Given the description of an element on the screen output the (x, y) to click on. 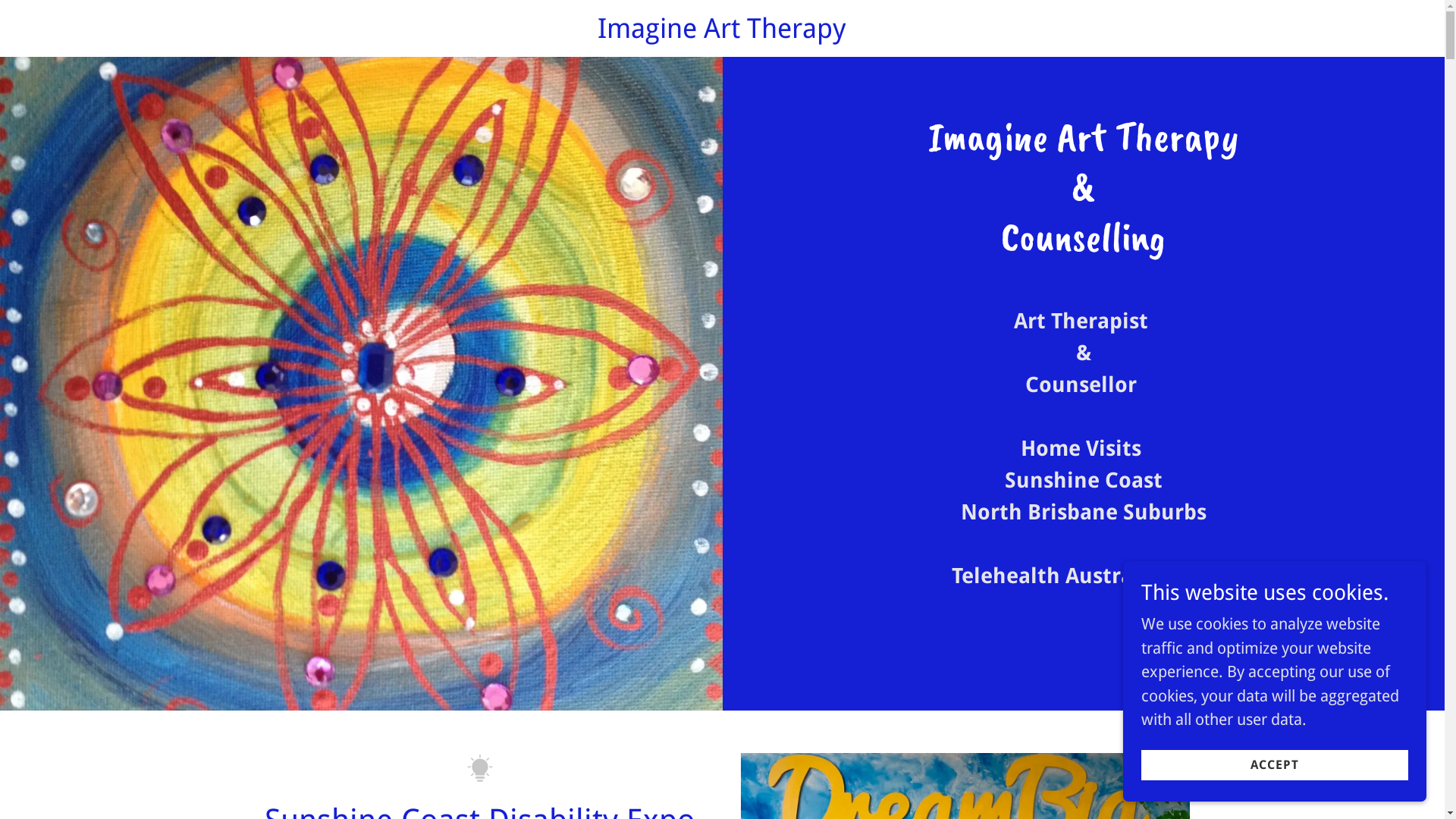
Imagine Art Therapy Element type: text (721, 31)
ACCEPT Element type: text (1274, 764)
